Given the description of an element on the screen output the (x, y) to click on. 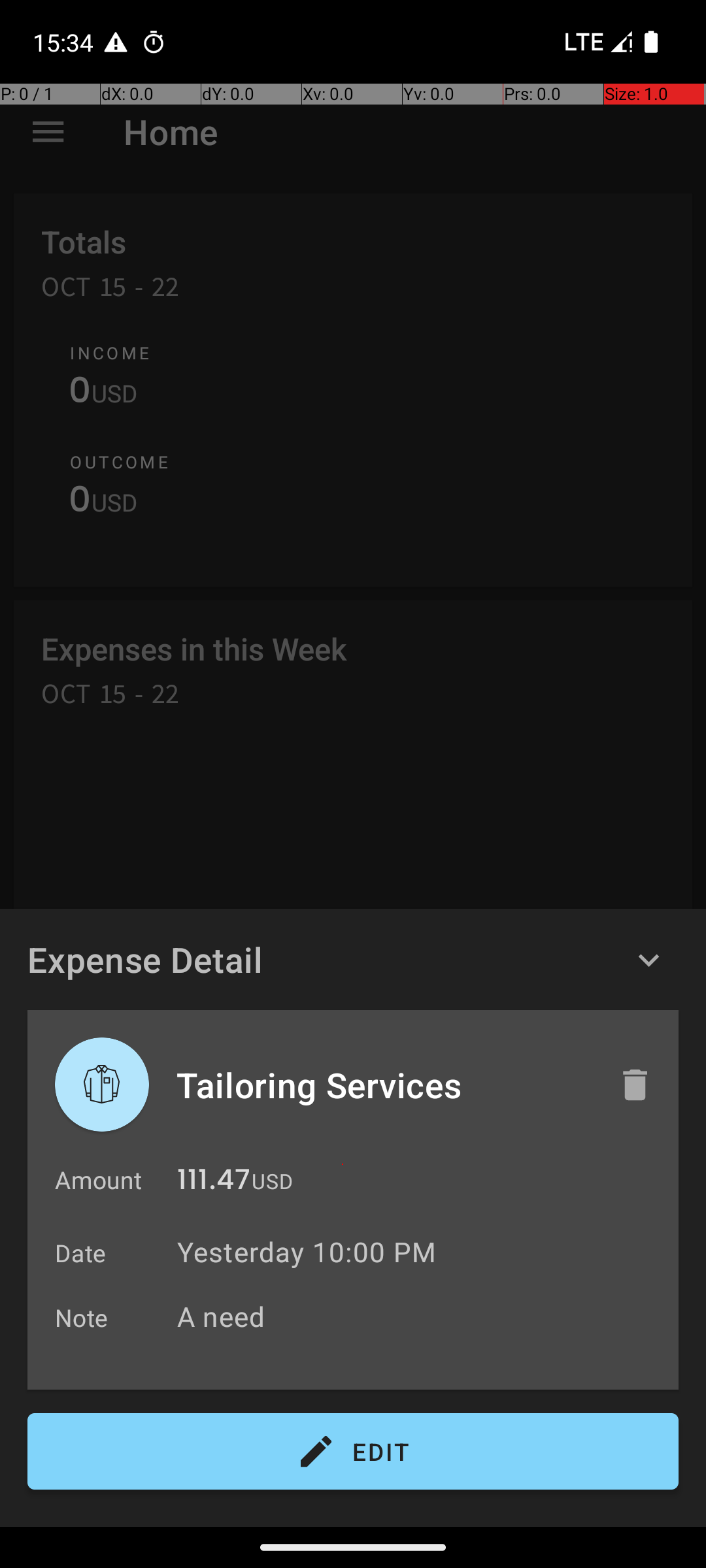
Tailoring Services Element type: android.widget.TextView (383, 1084)
111.47 Element type: android.widget.TextView (213, 1182)
Yesterday 10:00 PM Element type: android.widget.TextView (306, 1251)
